Given the description of an element on the screen output the (x, y) to click on. 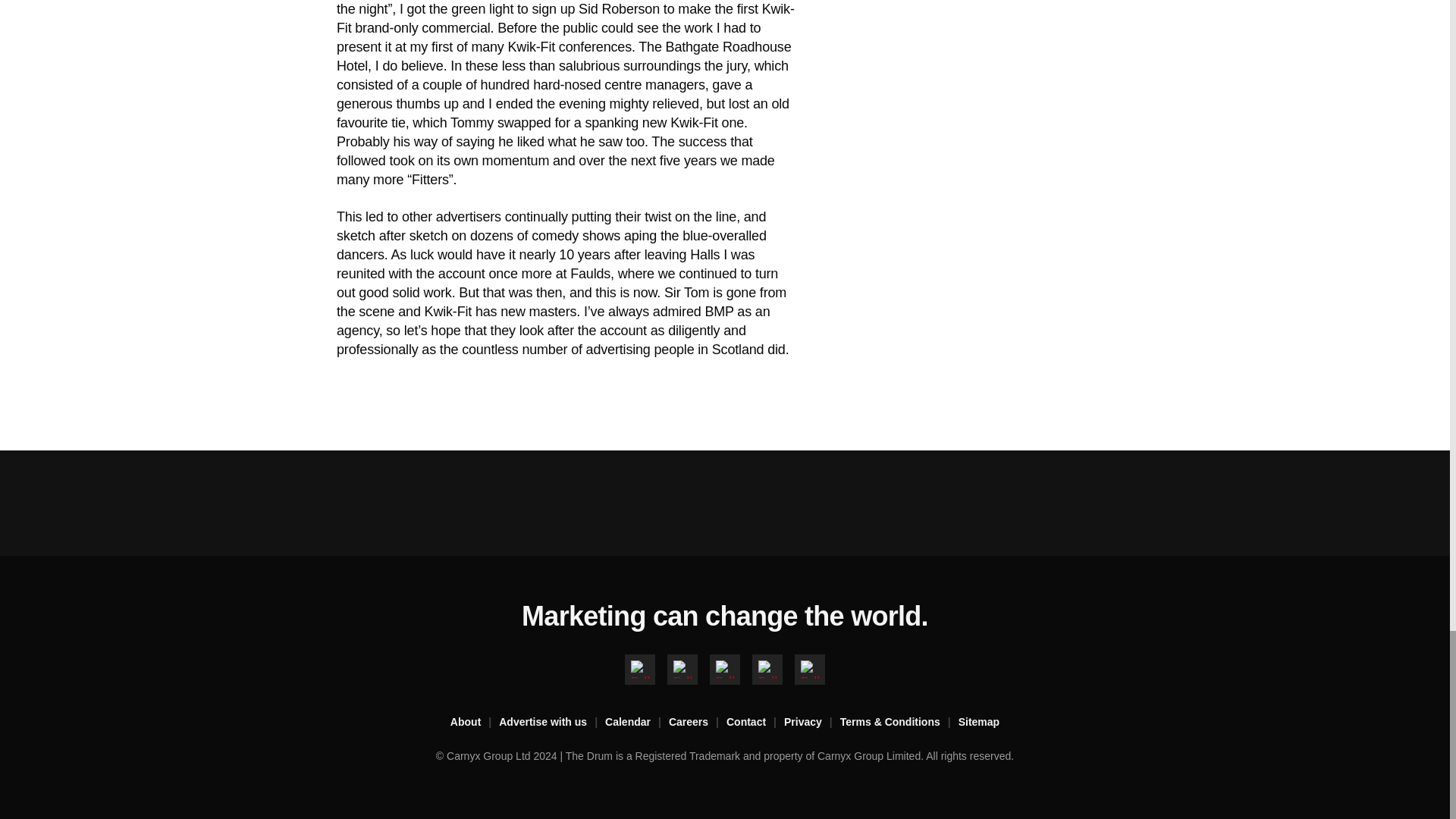
Privacy (812, 722)
Advertise with us (552, 722)
Sitemap (978, 722)
Contact (755, 722)
About (474, 722)
Careers (697, 722)
Calendar (636, 722)
